Given the description of an element on the screen output the (x, y) to click on. 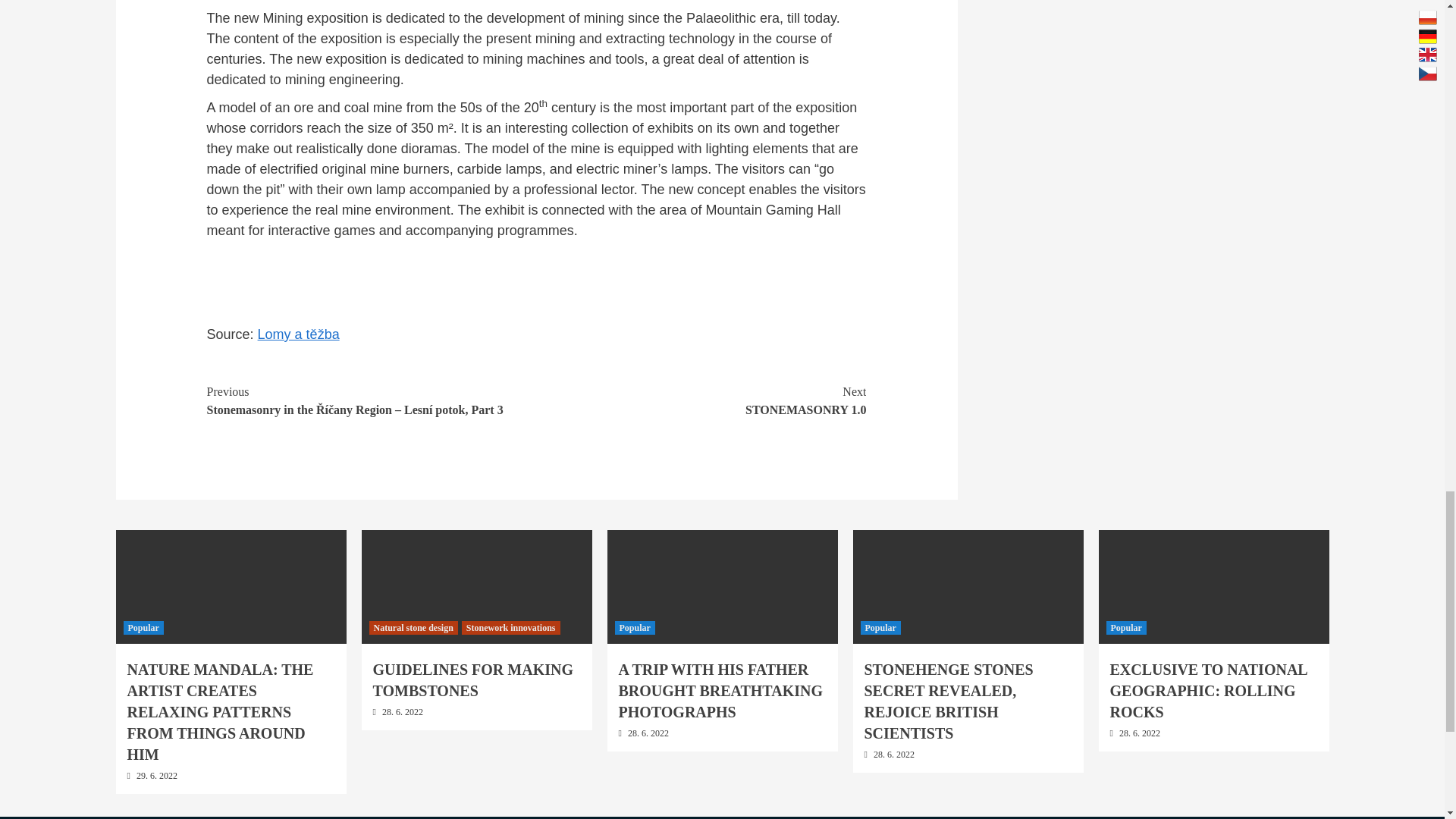
A TRIP WITH HIS FATHER BROUGHT BREATHTAKING PHOTOGRAPHS (721, 690)
Popular (142, 627)
Stonework innovations (510, 627)
Natural stone design (412, 627)
Popular (1125, 627)
GUIDELINES FOR MAKING TOMBSTONES (701, 401)
Popular (472, 679)
Popular (879, 627)
